Given the description of an element on the screen output the (x, y) to click on. 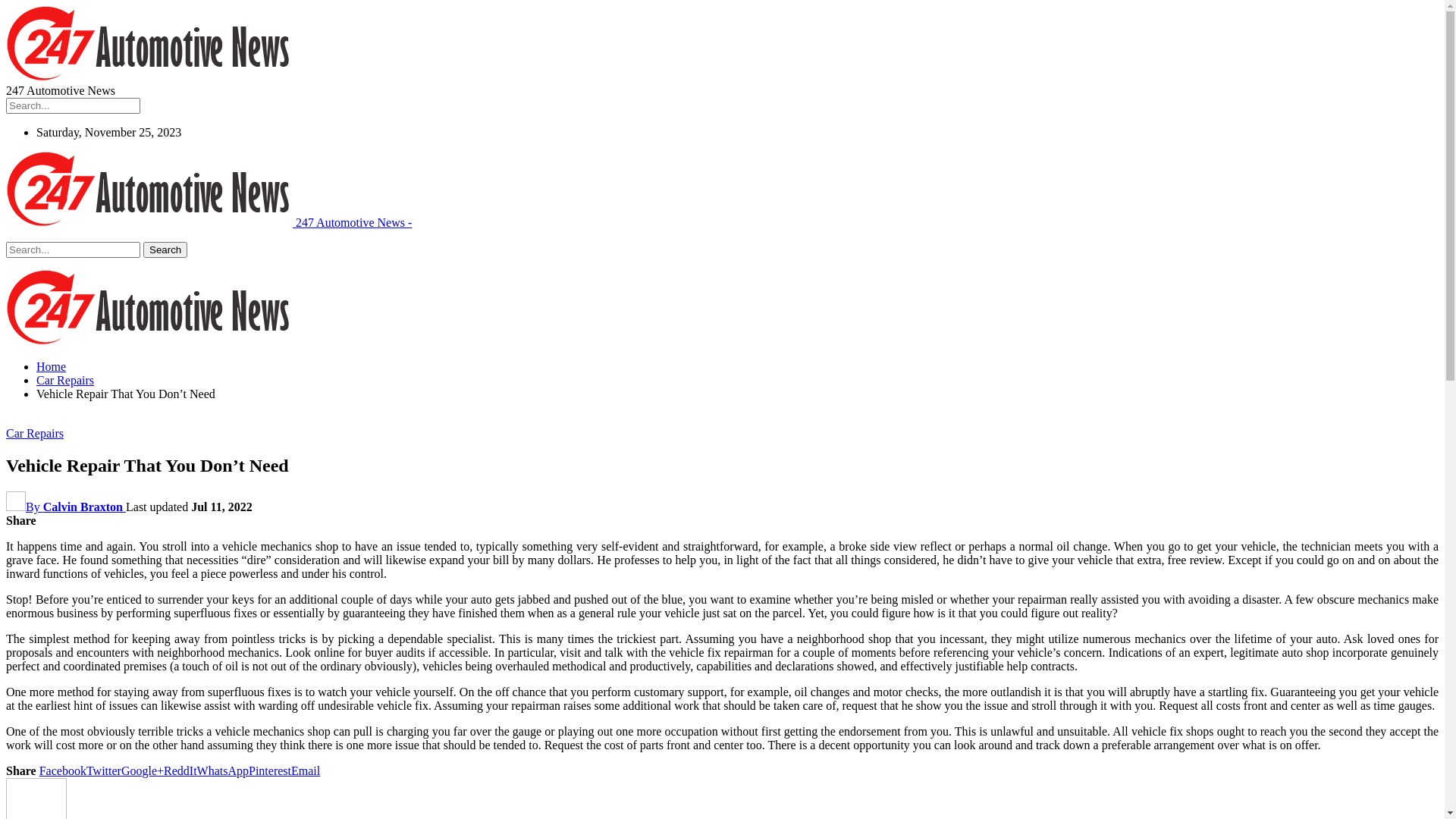
Car Repairs Element type: text (65, 379)
Google+ Element type: text (142, 770)
Email Element type: text (305, 770)
By Calvin Braxton Element type: text (65, 506)
Twitter Element type: text (103, 770)
WhatsApp Element type: text (222, 770)
Search for: Element type: hover (73, 249)
247 Automotive News - Element type: text (208, 222)
Car Repairs Element type: text (34, 432)
Pinterest Element type: text (269, 770)
Search Element type: text (165, 249)
Facebook Element type: text (62, 770)
ReddIt Element type: text (180, 770)
Home Element type: text (50, 366)
